Given the description of an element on the screen output the (x, y) to click on. 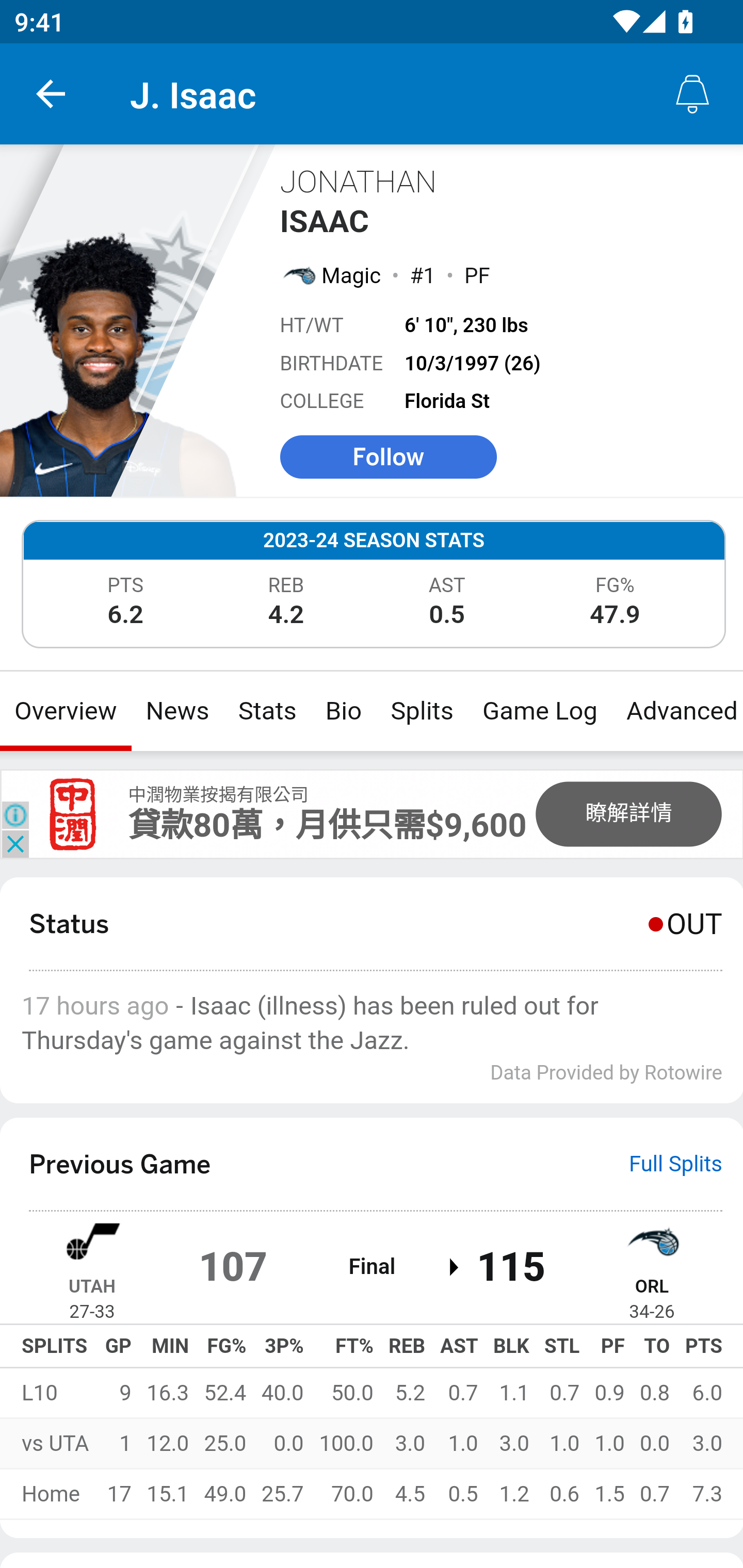
back.button (50, 93)
Alerts (692, 93)
Orlando Magic (297, 274)
Magic (351, 274)
Florida St (447, 401)
Follow (387, 455)
Overview (65, 711)
News (177, 711)
Stats (267, 711)
Bio (343, 711)
Splits (422, 711)
Game Log (538, 711)
Advanced Stats (676, 711)
瞭解詳情 (628, 813)
中潤物業按揭有限公司 (218, 794)
貸款80萬，月供只需$9,600 (326, 825)
Full Splits (675, 1164)
Utah Jazz (91, 1239)
Orlando Magic (651, 1239)
